Given the description of an element on the screen output the (x, y) to click on. 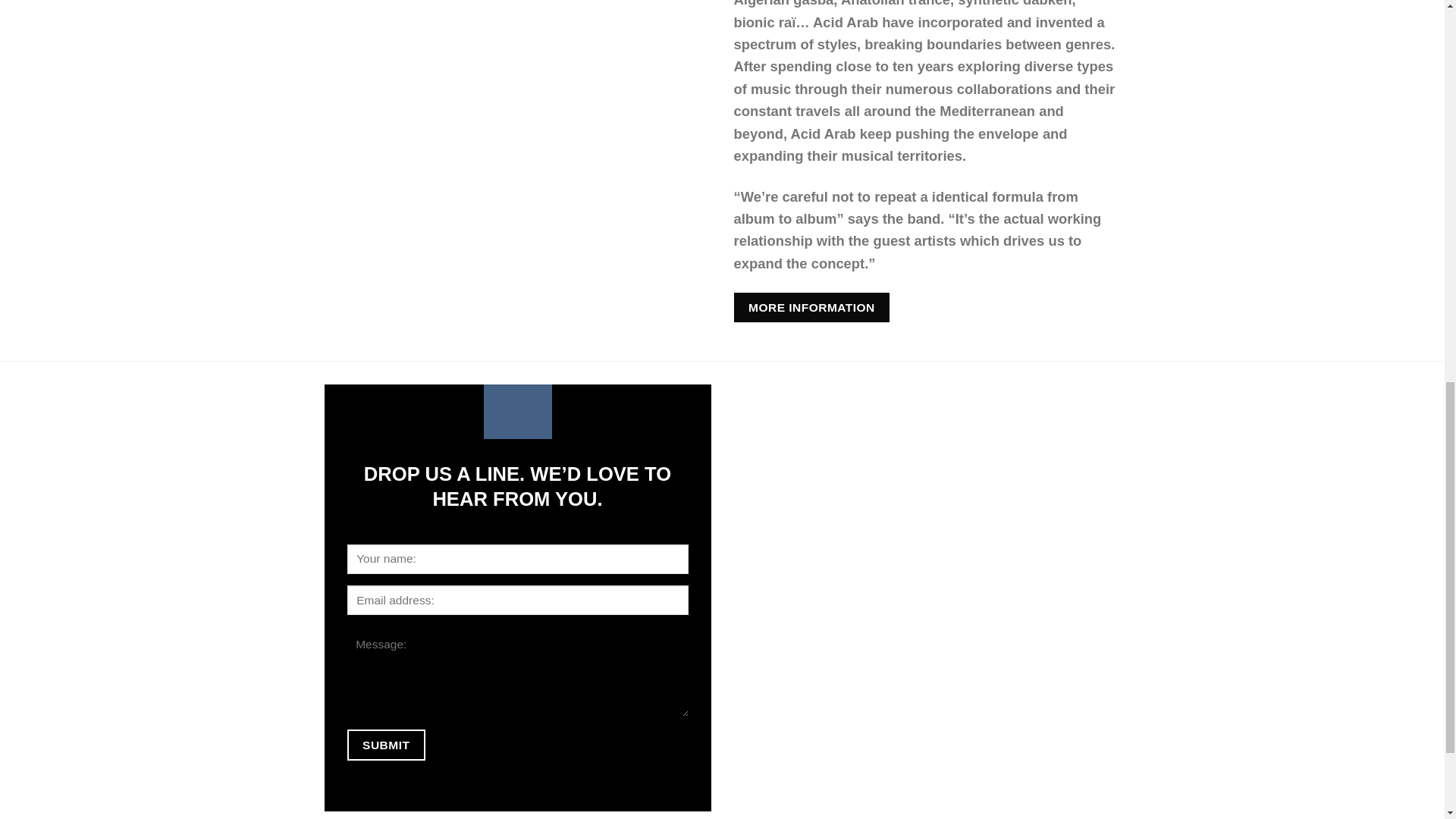
MORE INFORMATION (811, 307)
Submit (386, 744)
Submit (386, 744)
